Given the description of an element on the screen output the (x, y) to click on. 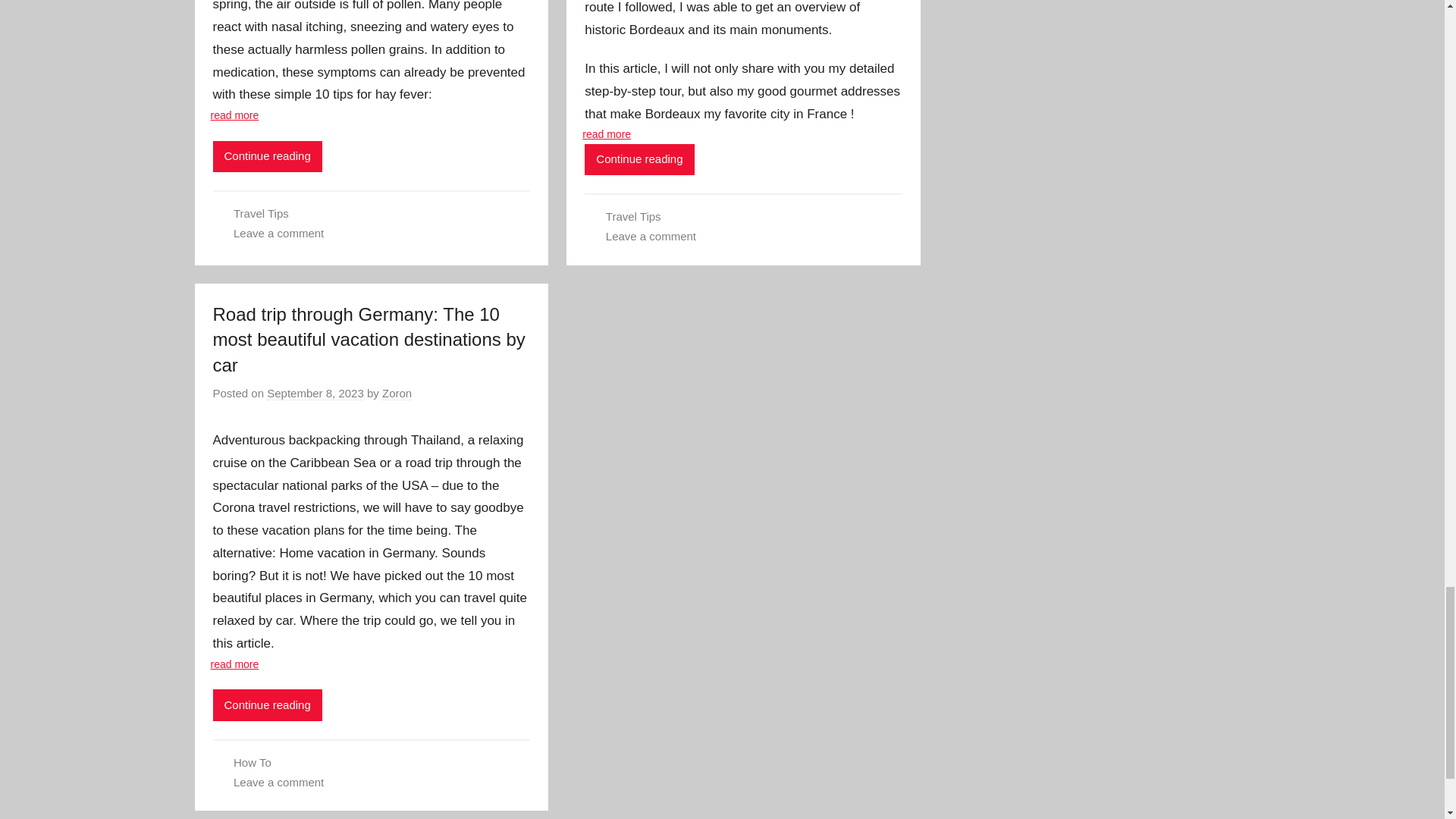
View all posts by Zoron (396, 393)
